Given the description of an element on the screen output the (x, y) to click on. 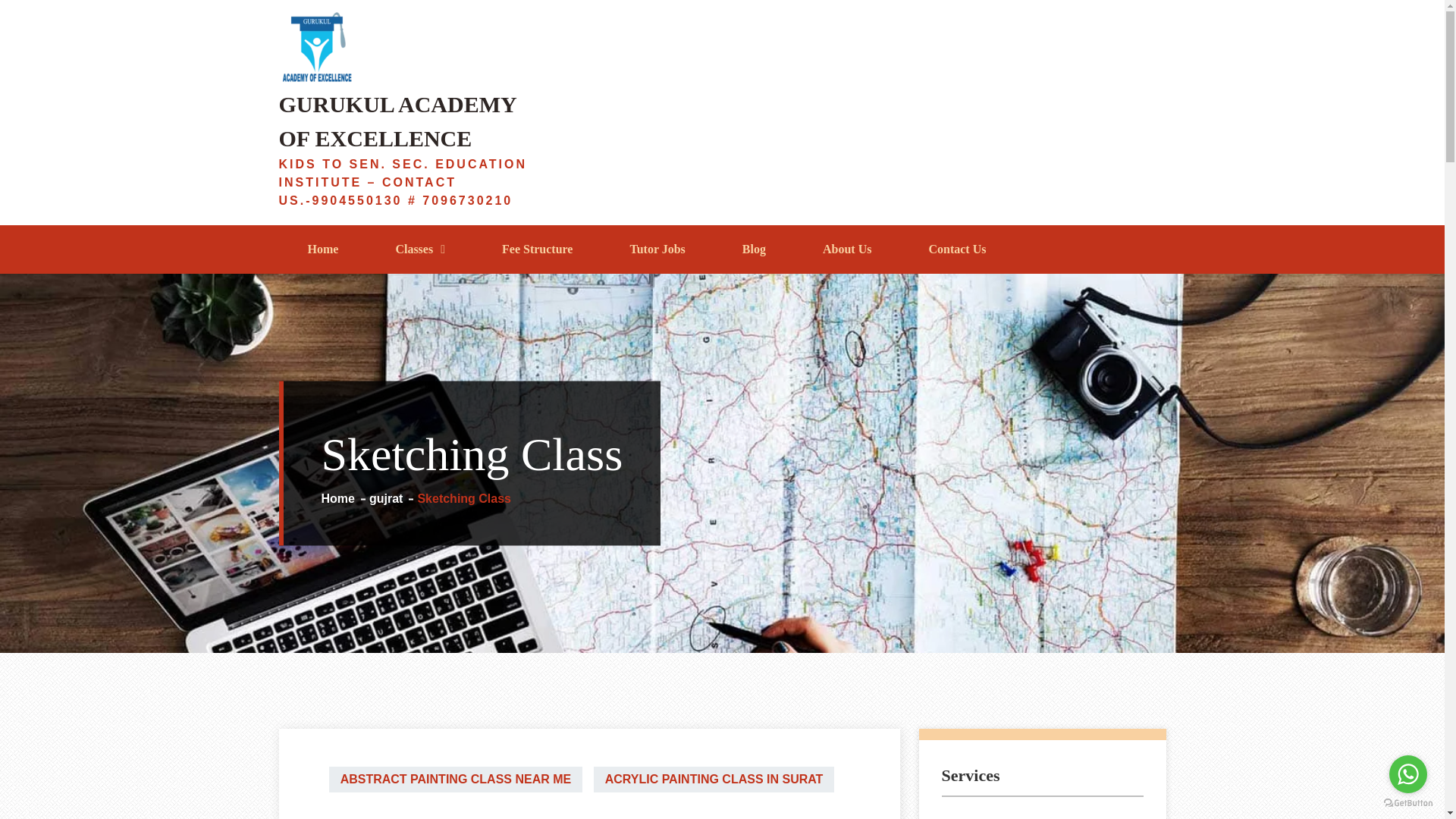
Home (345, 497)
Home (322, 249)
ABSTRACT PAINTING CLASS NEAR ME (456, 779)
About Us (846, 249)
Fee Structure (536, 249)
Contact Us (956, 249)
gujrat (392, 497)
Tutor Jobs (656, 249)
Blog (753, 249)
GURUKUL ACADEMY OF EXCELLENCE (397, 120)
Classes (419, 249)
ACRYLIC PAINTING CLASS IN SURAT (714, 779)
